Given the description of an element on the screen output the (x, y) to click on. 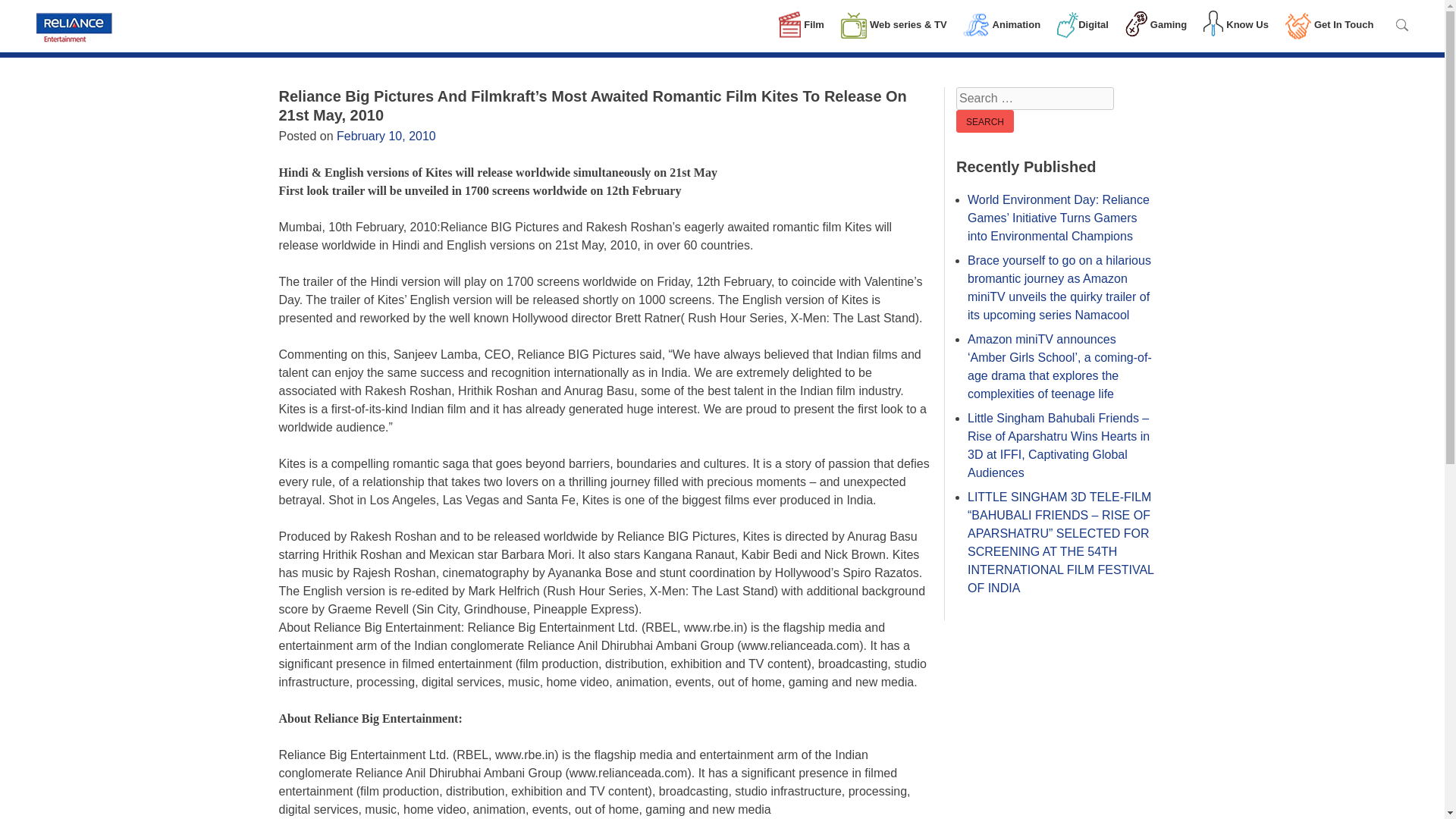
Know Us (1243, 24)
Get In Touch (1336, 24)
Search (984, 120)
February 10, 2010 (385, 135)
Search (984, 120)
Film (808, 24)
Animation (1009, 24)
Gaming (1163, 24)
Search (984, 120)
Digital (1089, 24)
